Given the description of an element on the screen output the (x, y) to click on. 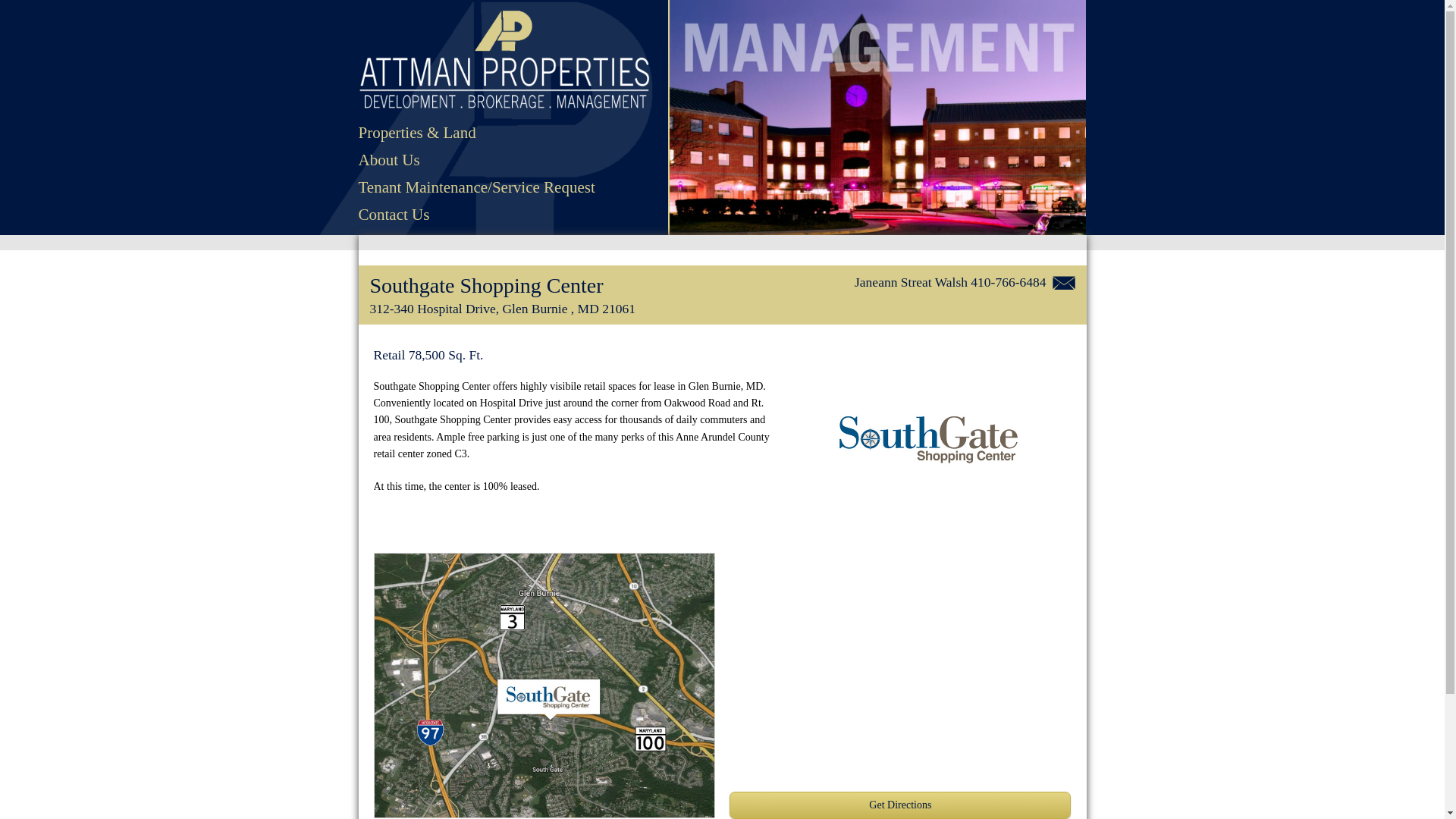
Get Directions (899, 805)
Contact Us (476, 214)
About Us (476, 159)
